Given the description of an element on the screen output the (x, y) to click on. 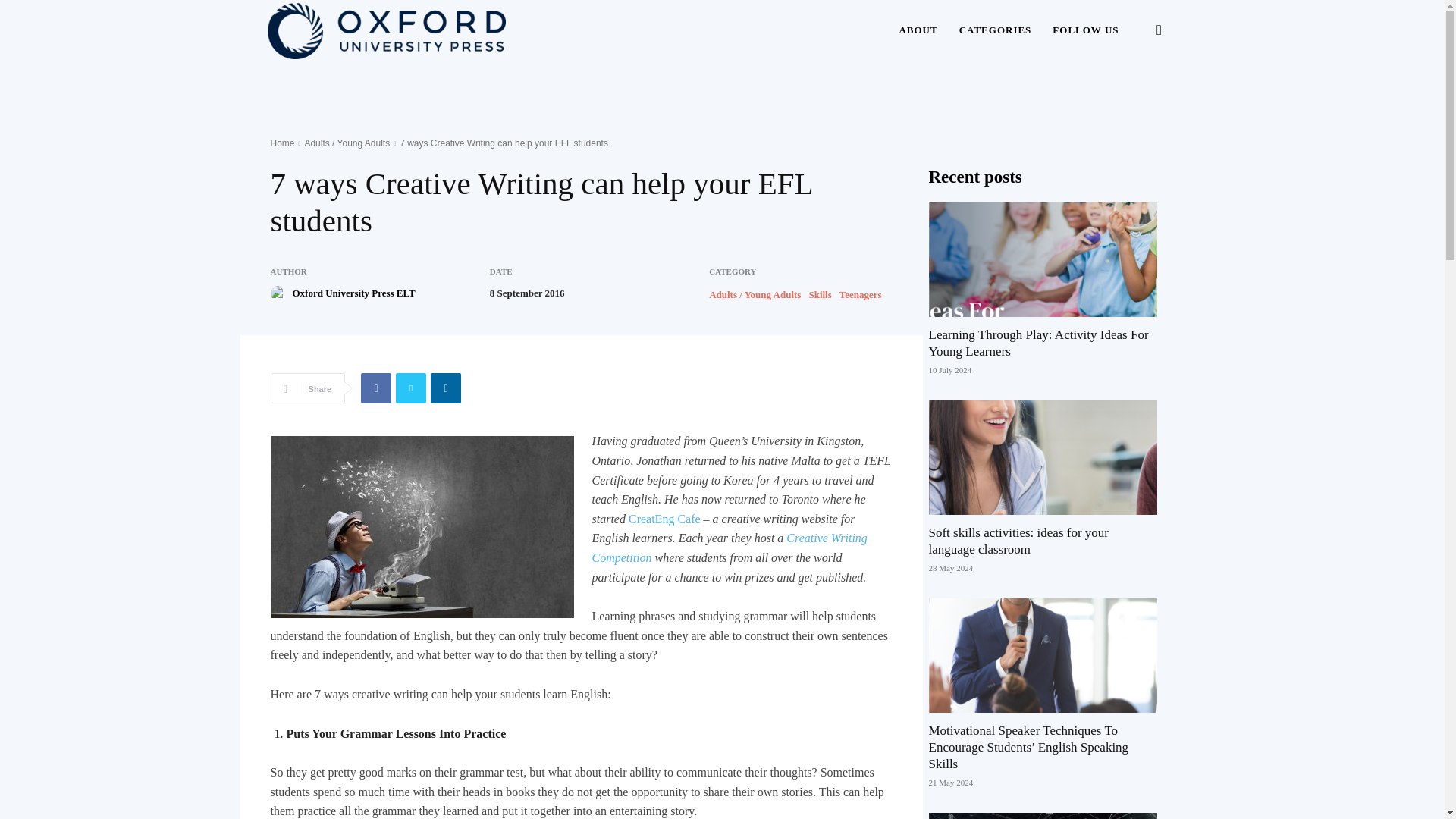
Search (1134, 102)
Teaching English with Oxford (385, 30)
Linkedin (445, 388)
Oxford University Press ELT (353, 292)
CreatEng Cafe (664, 518)
Teenagers (861, 294)
Skills (819, 294)
CATEGORIES (995, 30)
ABOUT (917, 30)
FOLLOW US (1085, 30)
Twitter (411, 388)
Oxford University Press ELT (279, 293)
Creative Writing Competition (728, 547)
Facebook (376, 388)
Home (281, 143)
